Given the description of an element on the screen output the (x, y) to click on. 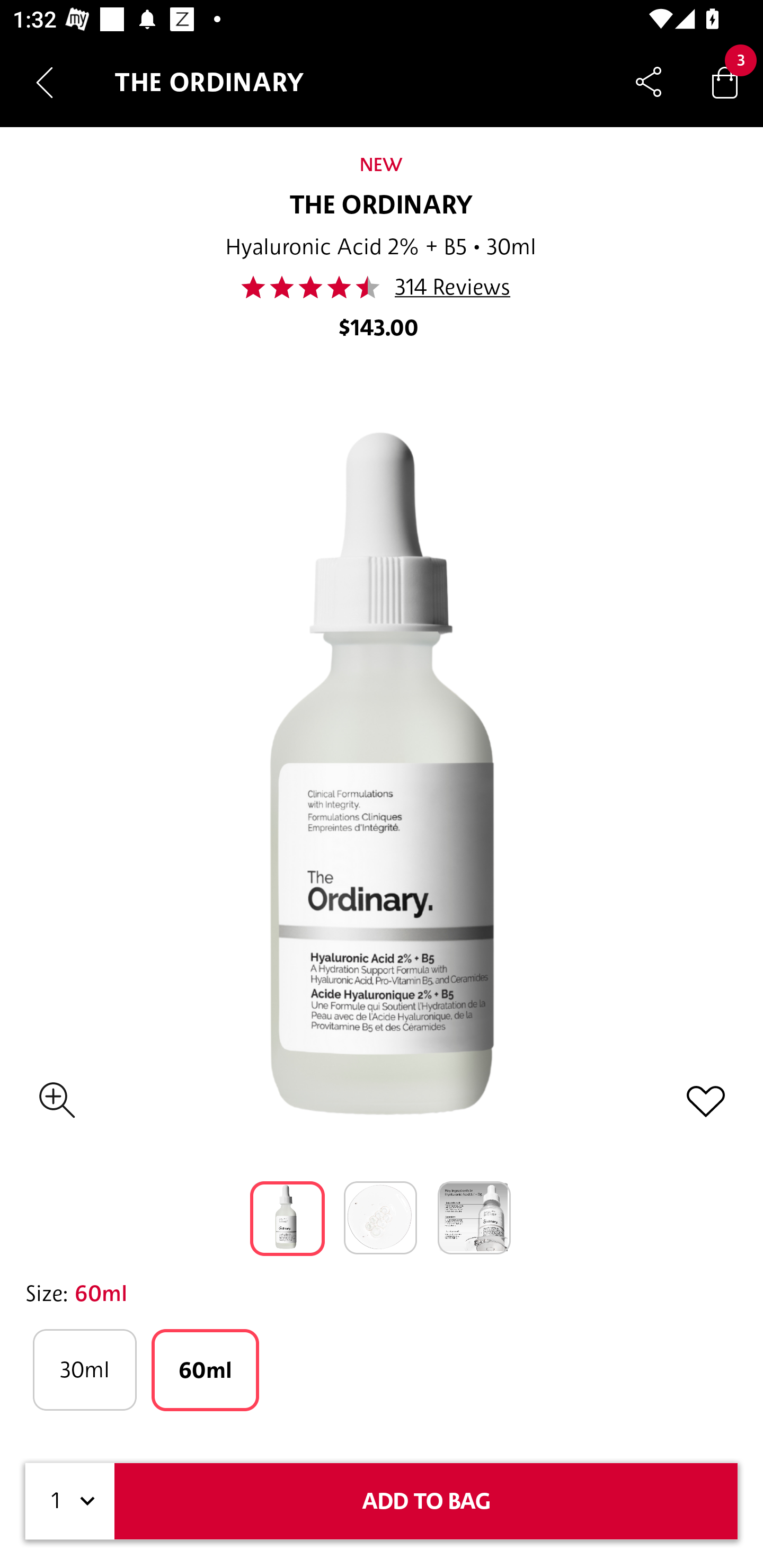
Navigate up (44, 82)
Share (648, 81)
Bag (724, 81)
THE ORDINARY (381, 205)
45.0 314 Reviews (380, 286)
30ml (84, 1370)
60ml (205, 1370)
1 (69, 1500)
ADD TO BAG (425, 1500)
